Given the description of an element on the screen output the (x, y) to click on. 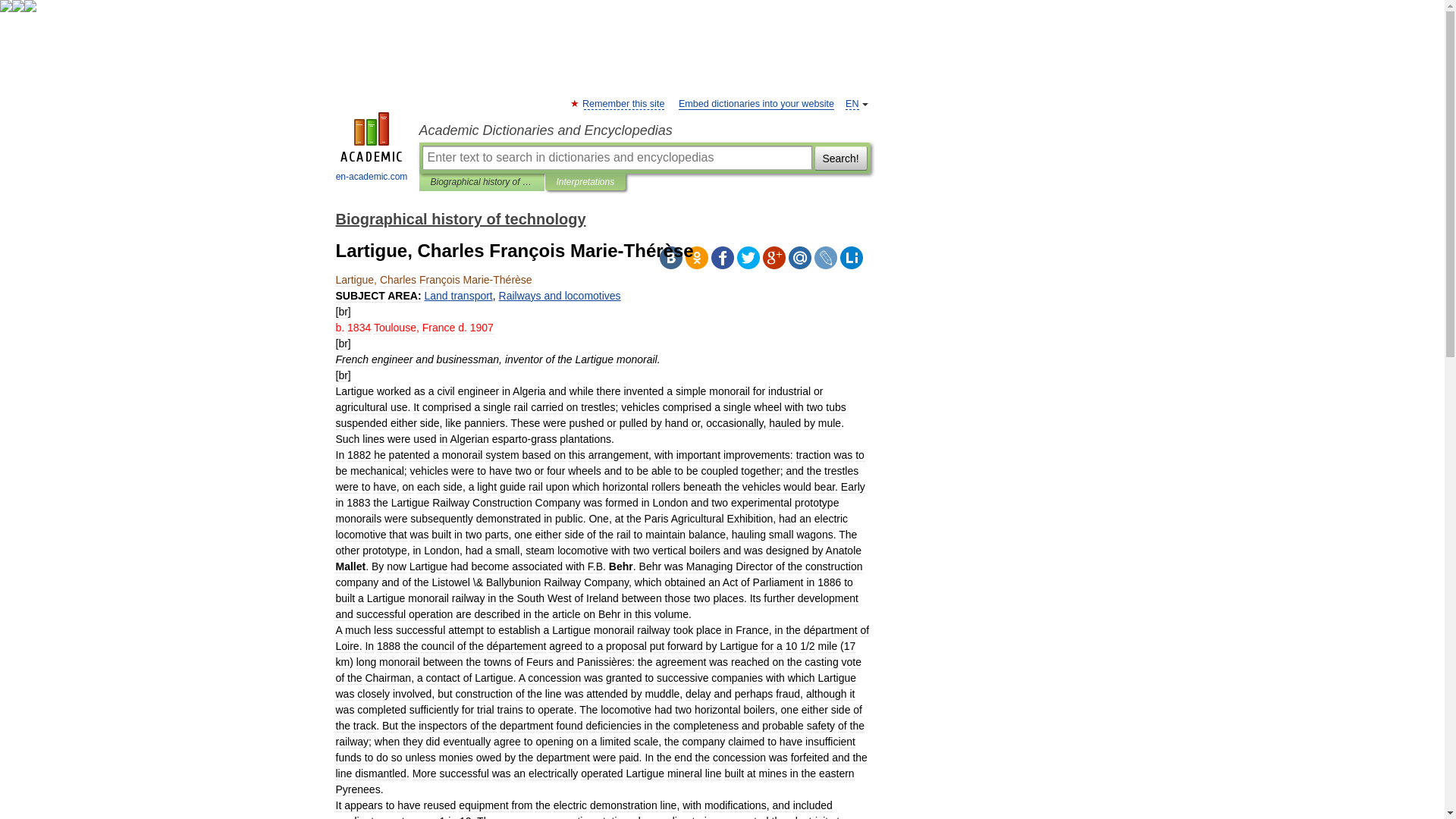
Enter text to search in dictionaries and encyclopedias (616, 157)
Embed dictionaries into your website (756, 103)
Land transport (457, 295)
Remember this site (623, 103)
Search! (840, 157)
Academic Dictionaries and Encyclopedias (644, 130)
Biographical history of technology (459, 218)
EN (852, 103)
Biographical history of technology (481, 181)
en-academic.com (371, 148)
